Given the description of an element on the screen output the (x, y) to click on. 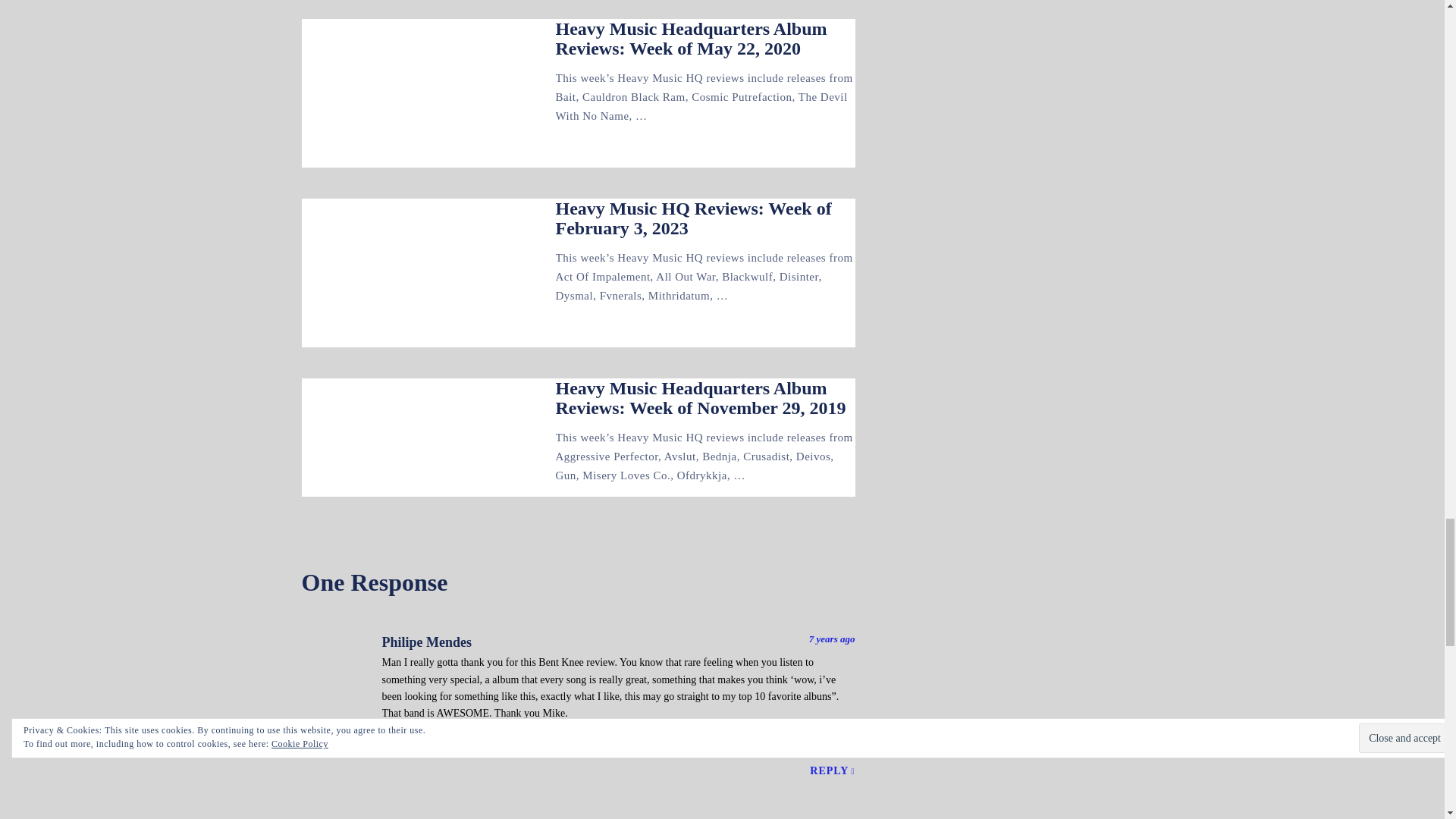
Heavy Music HQ Reviews: Week of February 3, 2023 (692, 218)
Heavy Music Headquarters Album Reviews: Week of May 22, 2020 (690, 38)
